Given the description of an element on the screen output the (x, y) to click on. 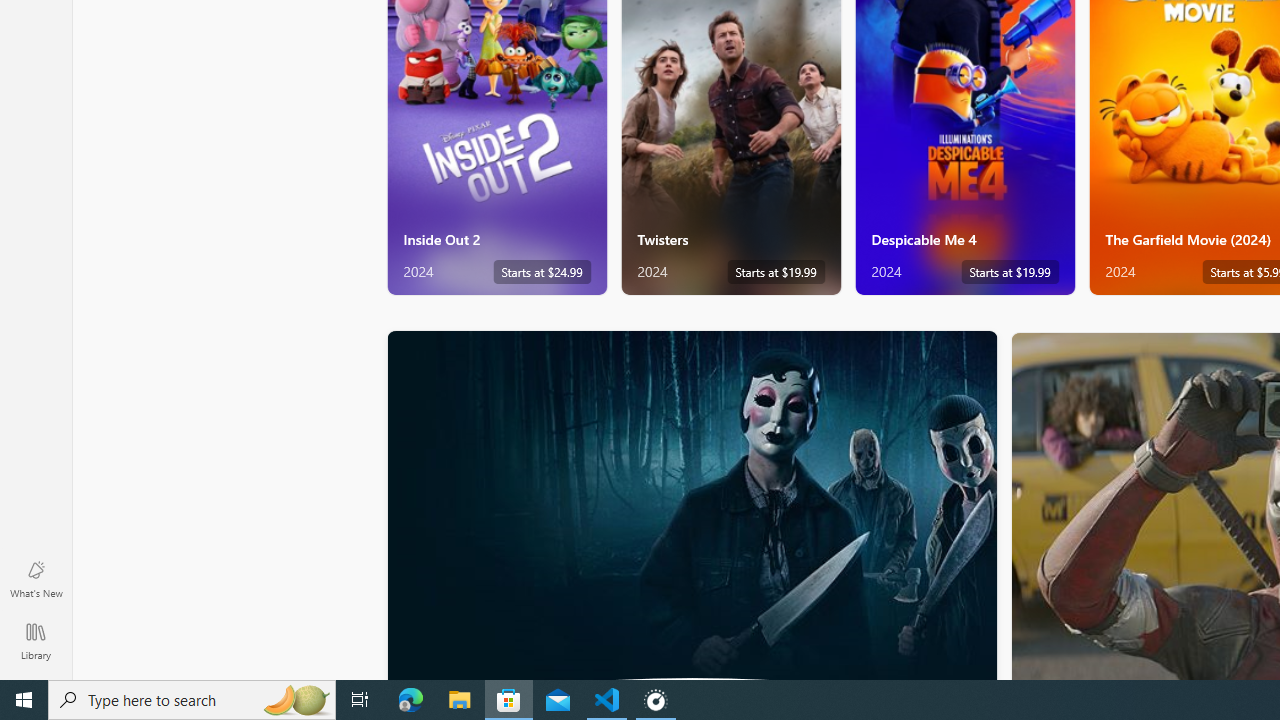
Horror (692, 504)
What's New (35, 578)
Library (35, 640)
AutomationID: PosterImage (690, 505)
